Given the description of an element on the screen output the (x, y) to click on. 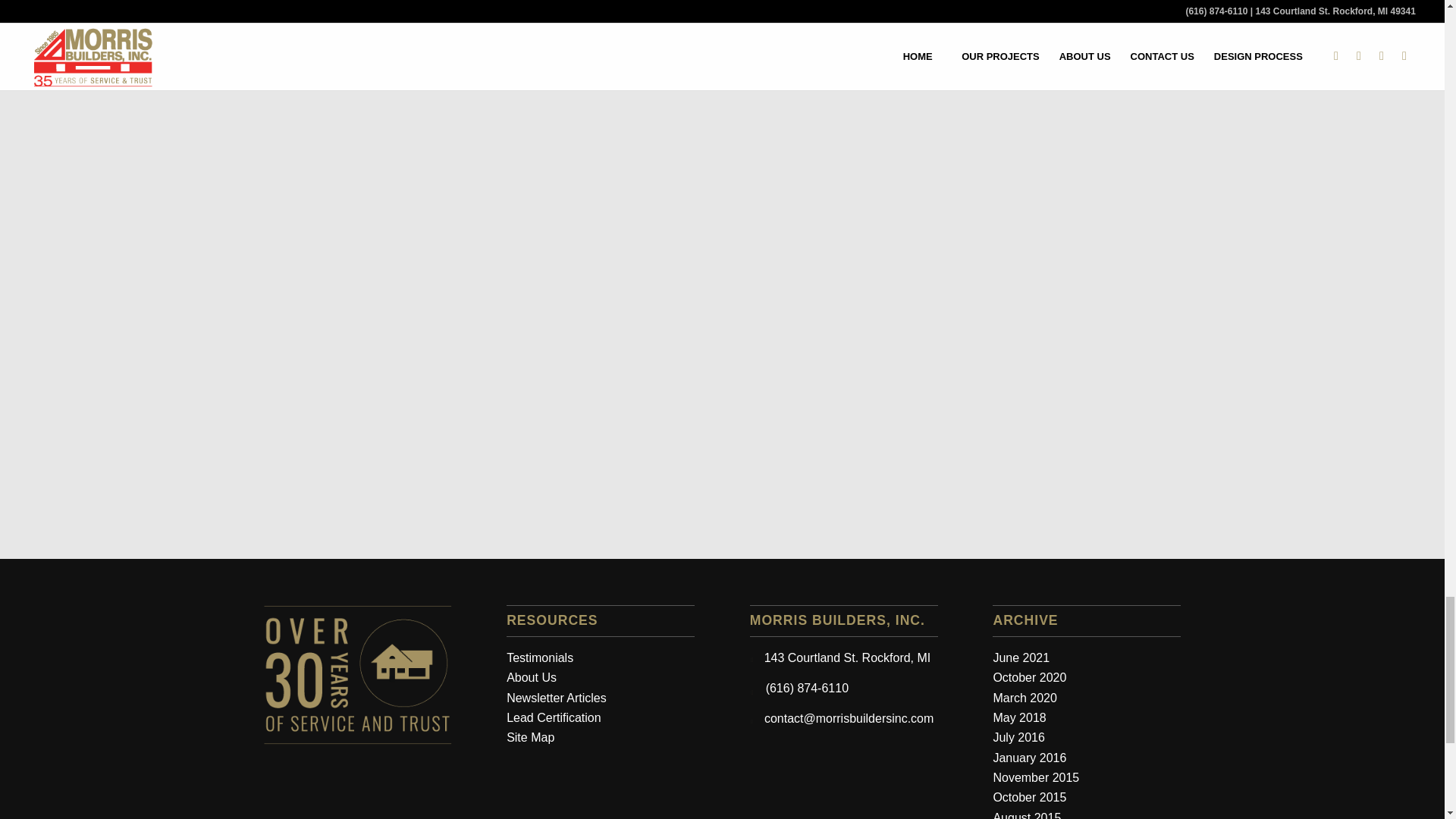
Testimonials (539, 657)
About Us (539, 686)
